Given the description of an element on the screen output the (x, y) to click on. 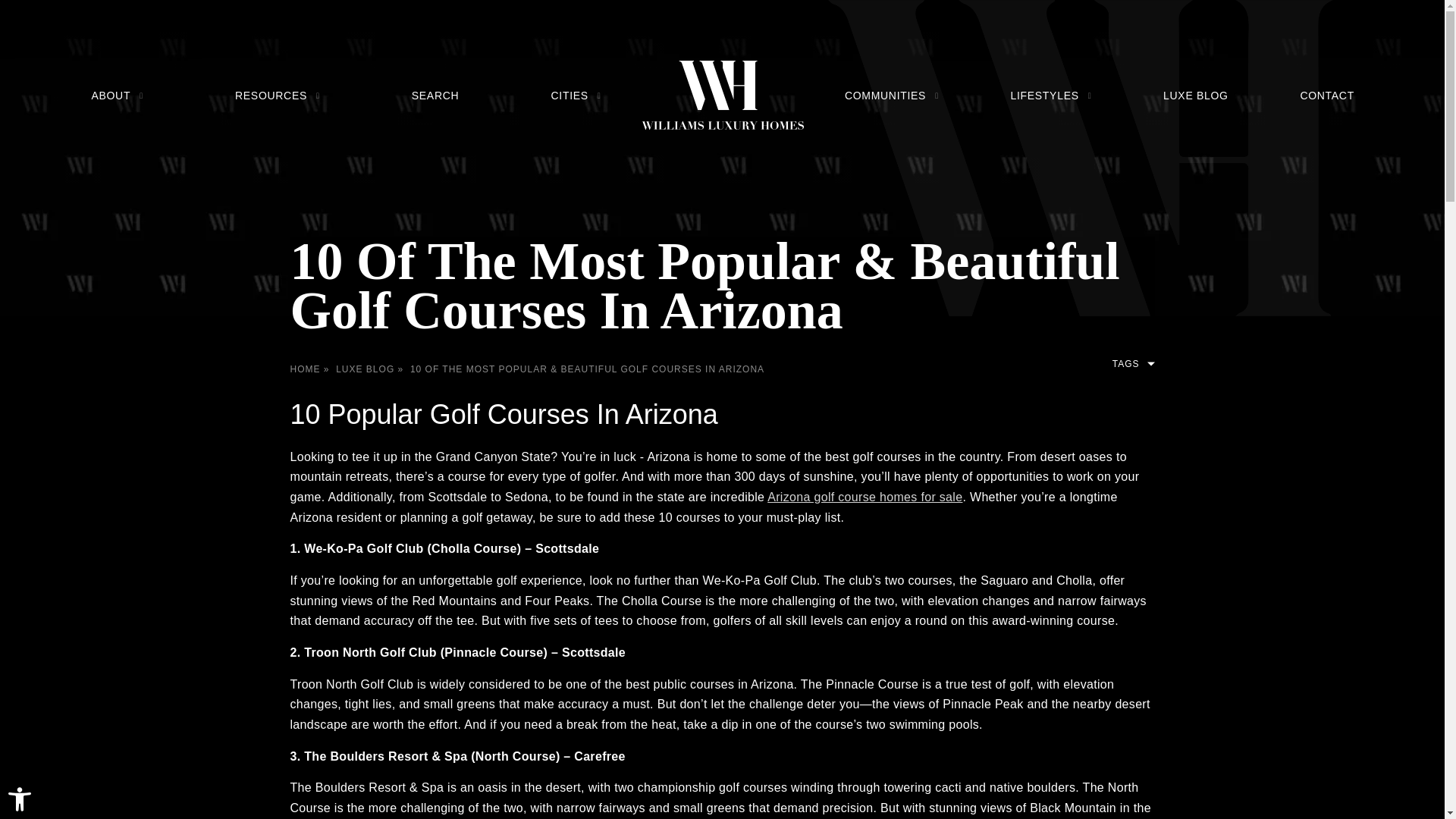
Accessibility Tools (19, 799)
Accessibility Tools (19, 799)
